Given the description of an element on the screen output the (x, y) to click on. 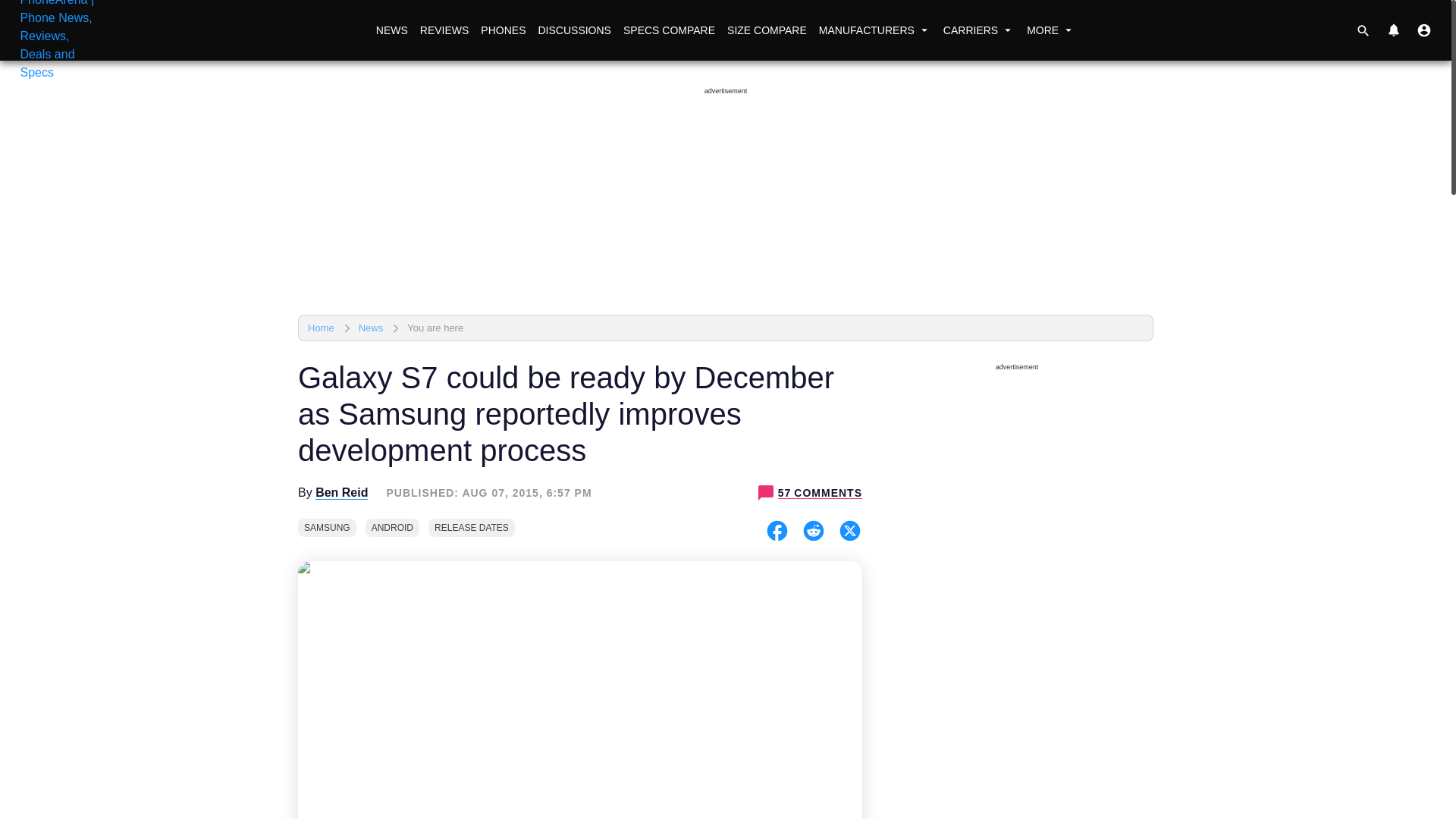
PHONES (502, 30)
SPECS COMPARE (668, 30)
CARRIERS (978, 30)
SIZE COMPARE (766, 30)
DISCUSSIONS (573, 30)
MANUFACTURERS (874, 30)
NEWS (391, 30)
REVIEWS (444, 30)
MORE (1050, 30)
